Given the description of an element on the screen output the (x, y) to click on. 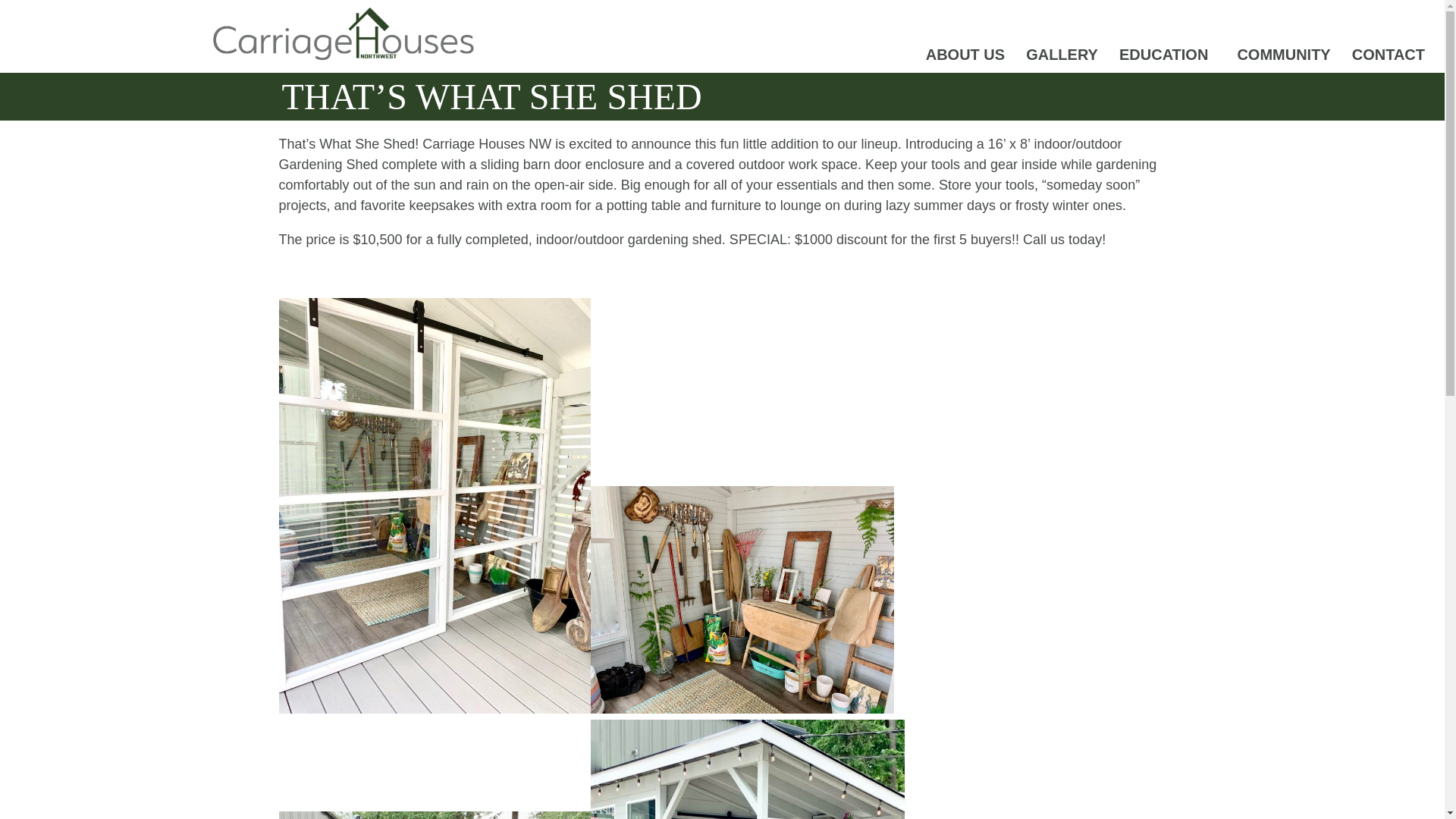
CONTACT (1392, 54)
EDUCATION (1167, 54)
ABOUT US (965, 54)
Contact To Carriage Houses NW (1392, 54)
Everything you need to know about TINY (1167, 54)
COMMUNITY (1283, 54)
Awesome builds for you to peruse (1062, 54)
How we engage with our community (1283, 54)
GALLERY (1062, 54)
Carriage Houses NW (486, 143)
